Given the description of an element on the screen output the (x, y) to click on. 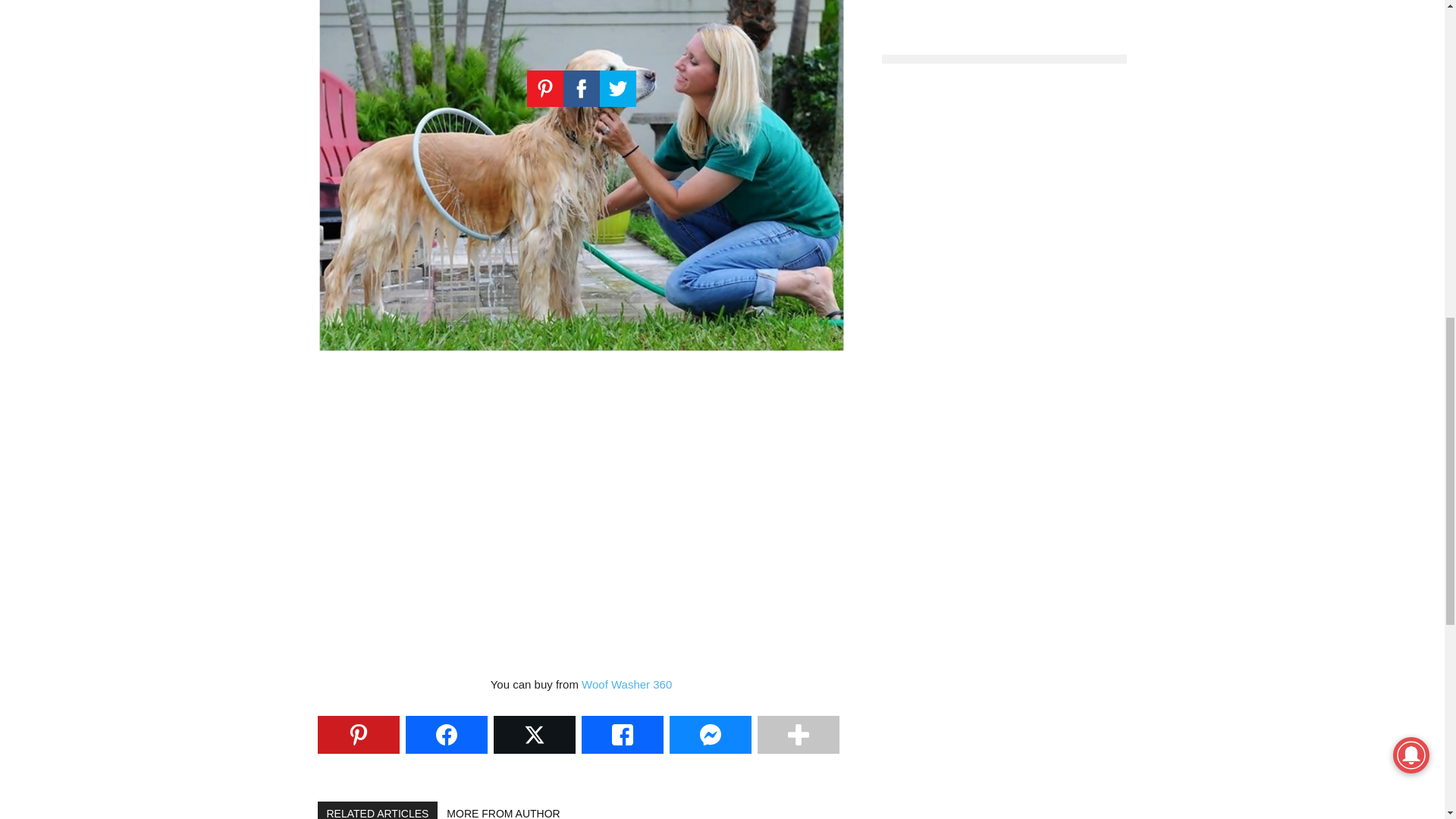
Share on Twitter (534, 734)
Share on Facebook (445, 734)
Share on More Button (797, 734)
Share on Like (621, 734)
Share on Pinterest (357, 734)
Share on Facebook Messenger (709, 734)
bottomFacebookLike (430, 788)
